Given the description of an element on the screen output the (x, y) to click on. 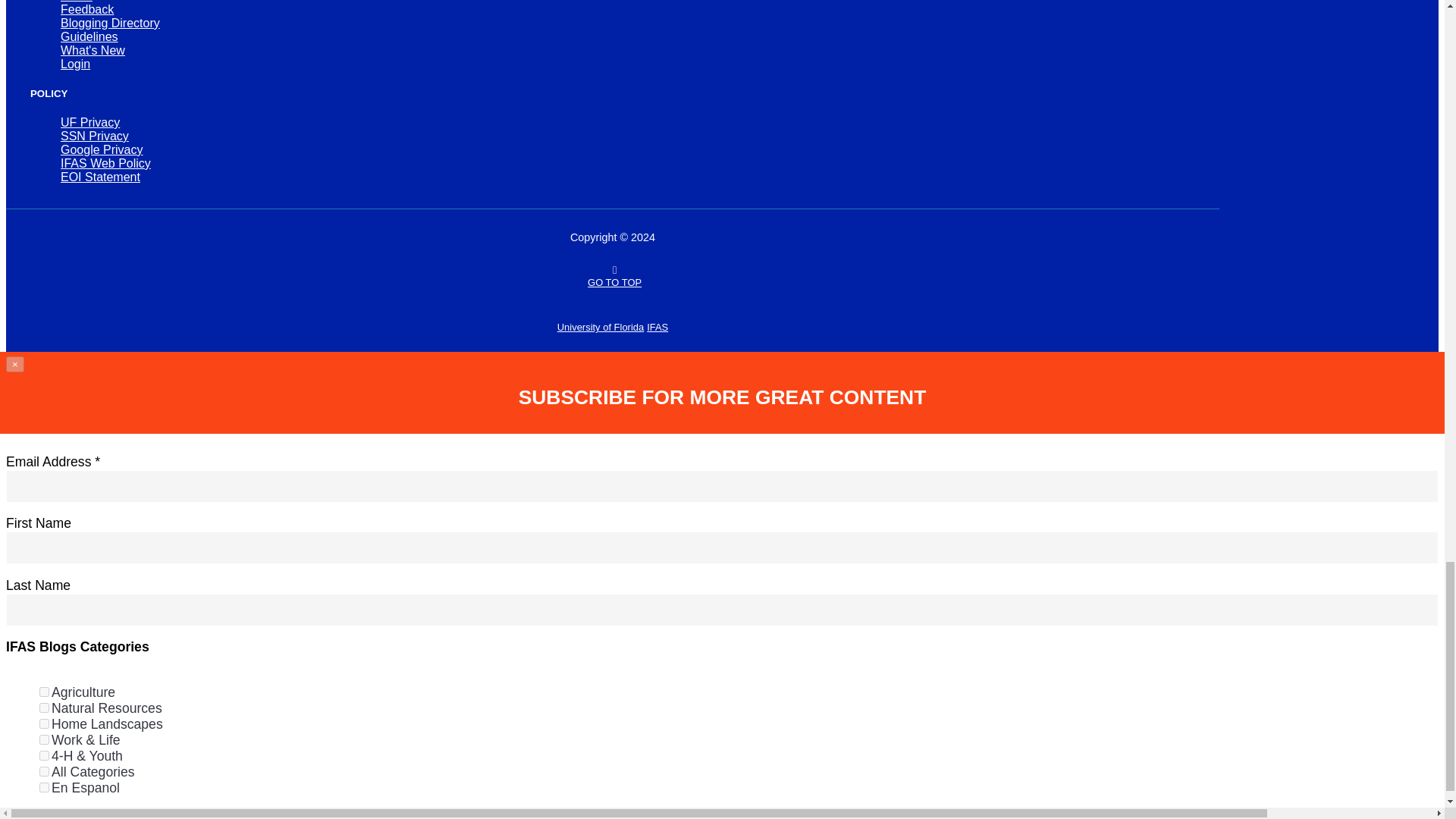
2 (44, 707)
32 (44, 771)
4 (44, 723)
1 (44, 691)
8 (44, 739)
16 (44, 755)
64 (44, 787)
